Given the description of an element on the screen output the (x, y) to click on. 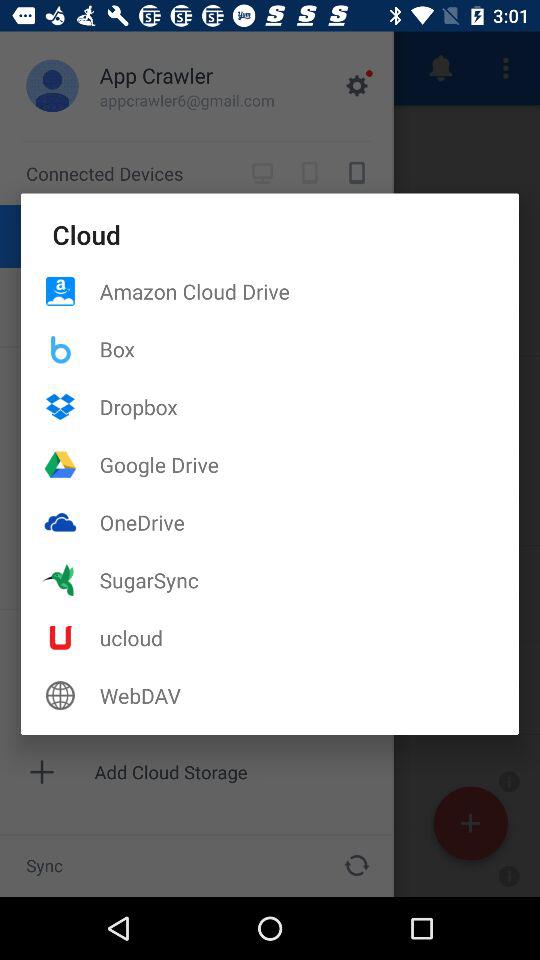
click item below the amazon cloud drive (309, 348)
